Given the description of an element on the screen output the (x, y) to click on. 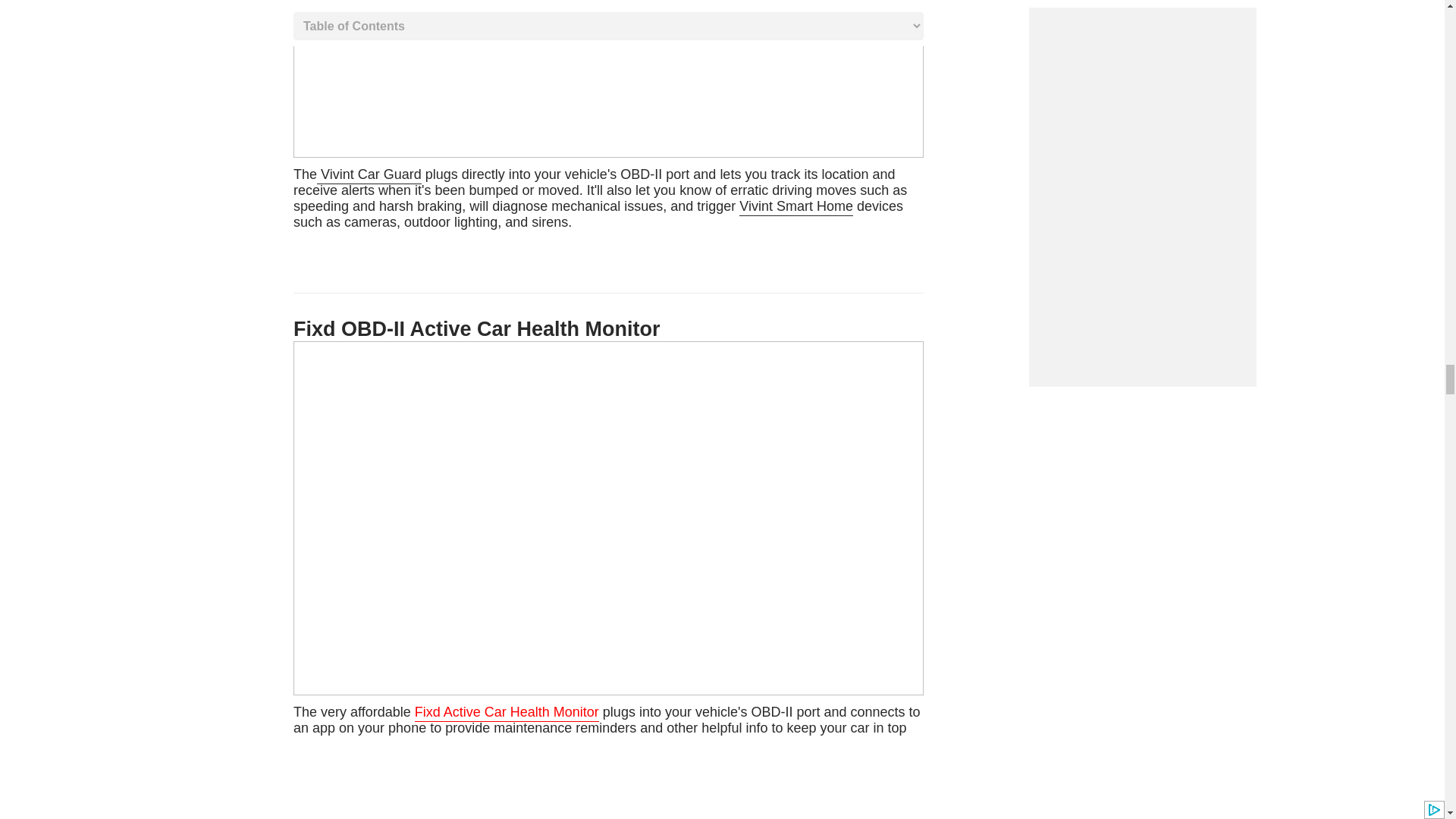
Buy It Now (607, 761)
Buy It Now (600, 198)
